Given the description of an element on the screen output the (x, y) to click on. 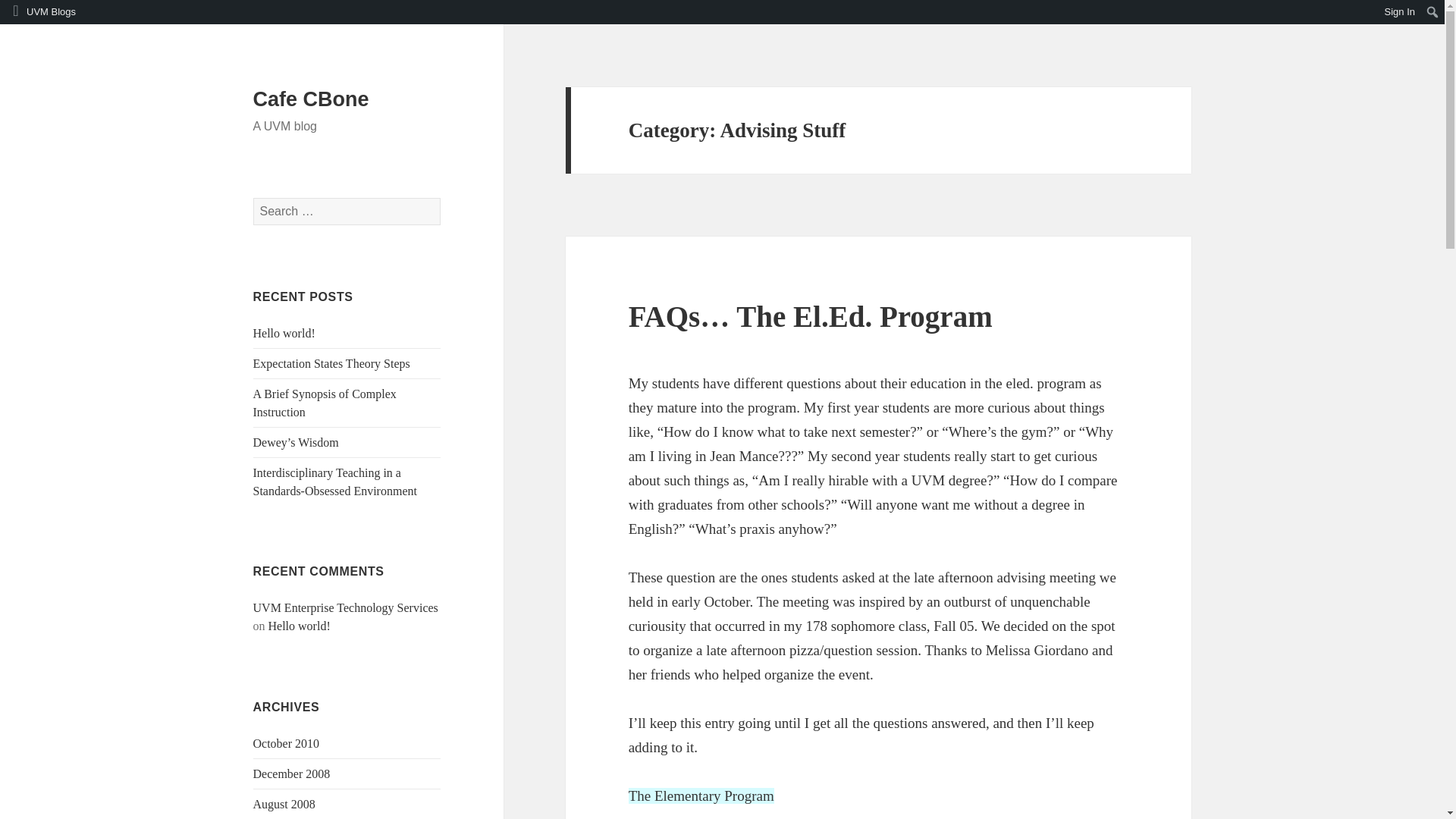
October 2010 (286, 743)
Hello world! (284, 332)
December 2008 (291, 773)
August 2008 (284, 803)
UVM Blogs (40, 12)
Hello world! (298, 625)
Sign In (1399, 12)
A Brief Synopsis of Complex Instruction (324, 402)
Expectation States Theory Steps (331, 363)
UVM Enterprise Technology Services (345, 607)
Cafe CBone (311, 98)
